Given the description of an element on the screen output the (x, y) to click on. 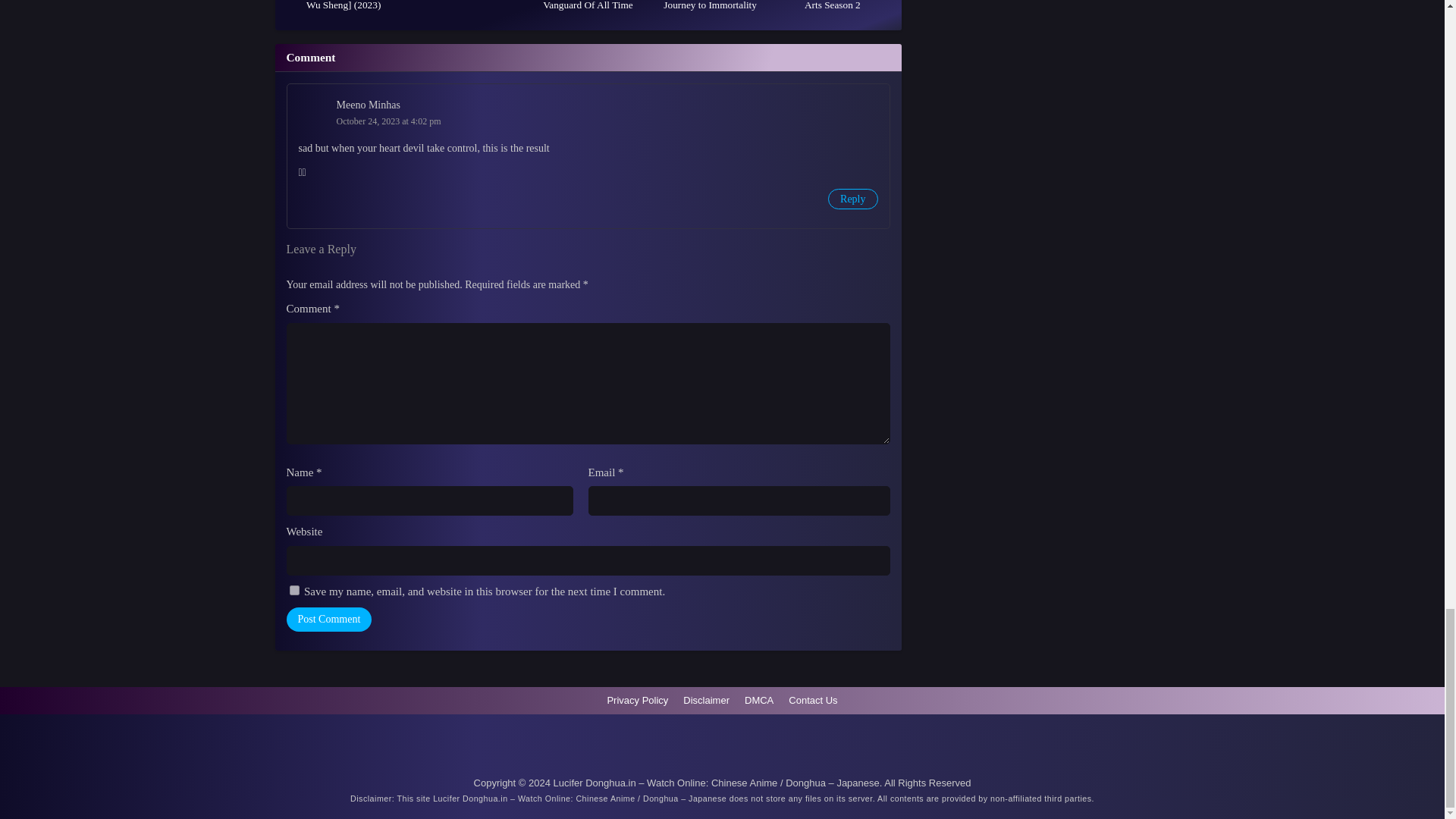
yes (294, 590)
Post Comment (329, 619)
